Given the description of an element on the screen output the (x, y) to click on. 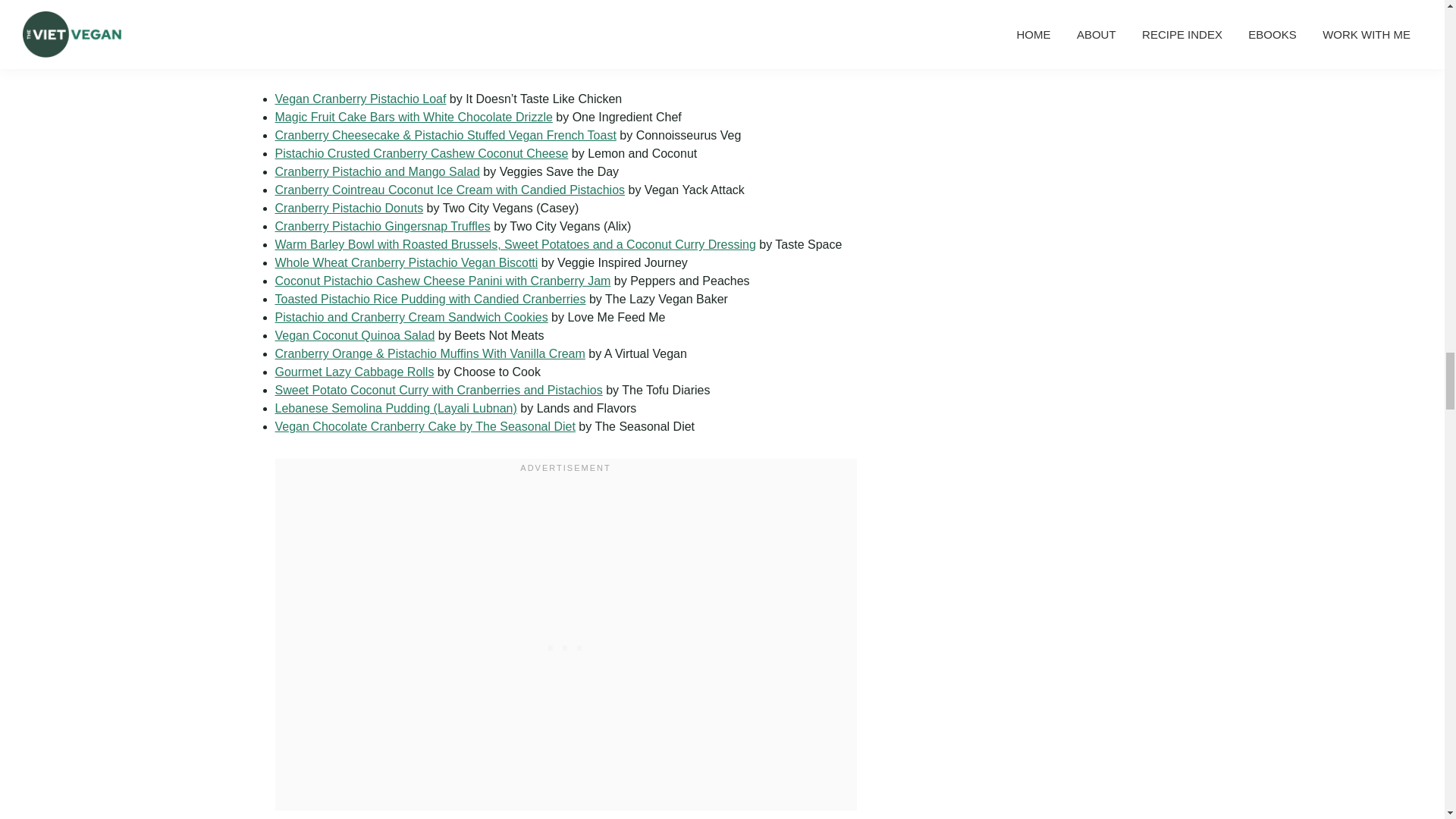
Vegan Cranberry Pistachio Loaf (360, 98)
Cranberry Pistachio Donuts (349, 207)
Cranberry Pistachio Gingersnap Truffles (382, 226)
Pistachio Crusted Cranberry Cashew Coconut Cheese (421, 153)
Cranberry Pistachio and Mango Salad (377, 171)
Magic Fruit Cake Bars with White Chocolate Drizzle (413, 116)
